Given the description of an element on the screen output the (x, y) to click on. 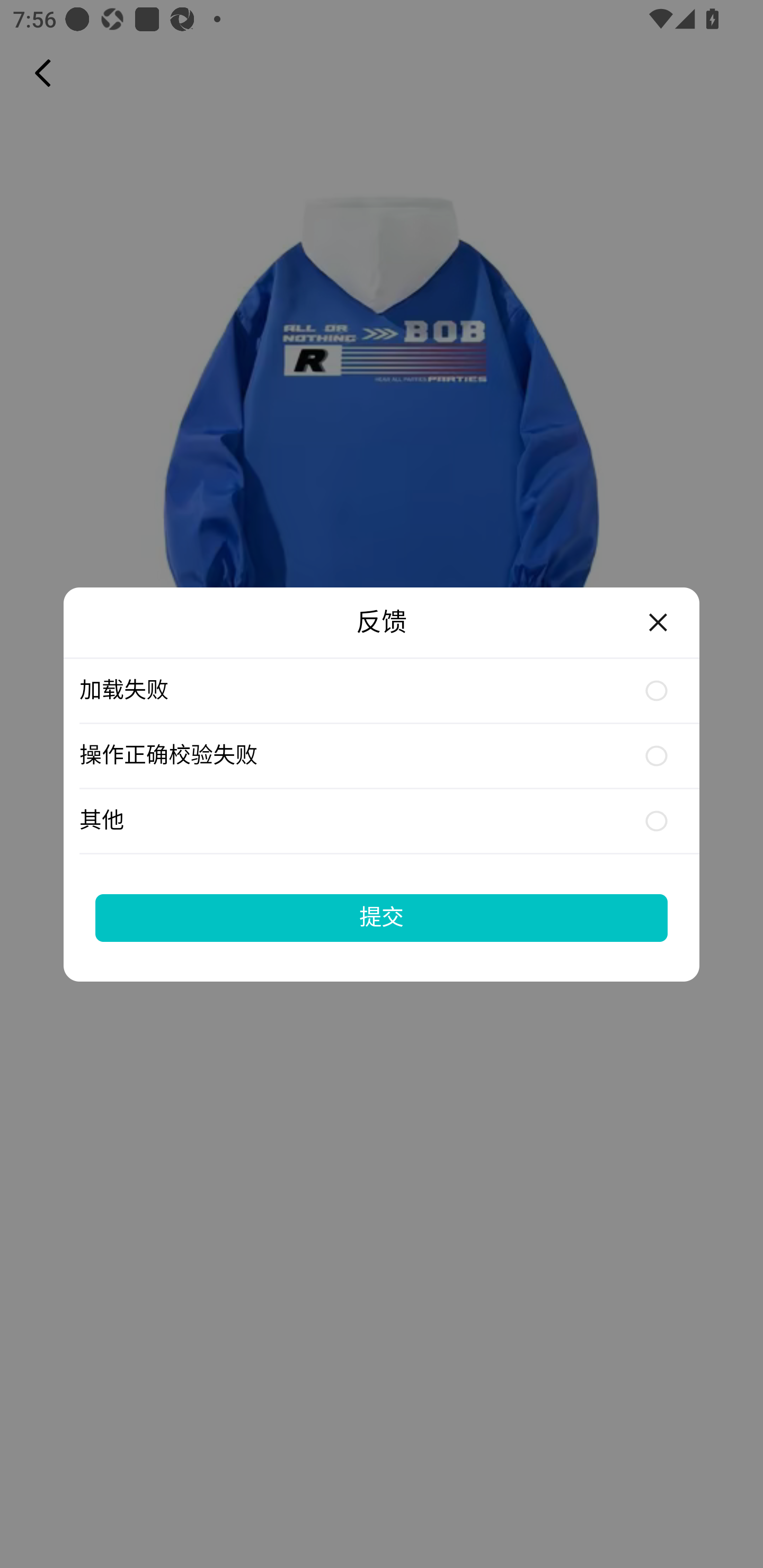
提交 (381, 917)
